Given the description of an element on the screen output the (x, y) to click on. 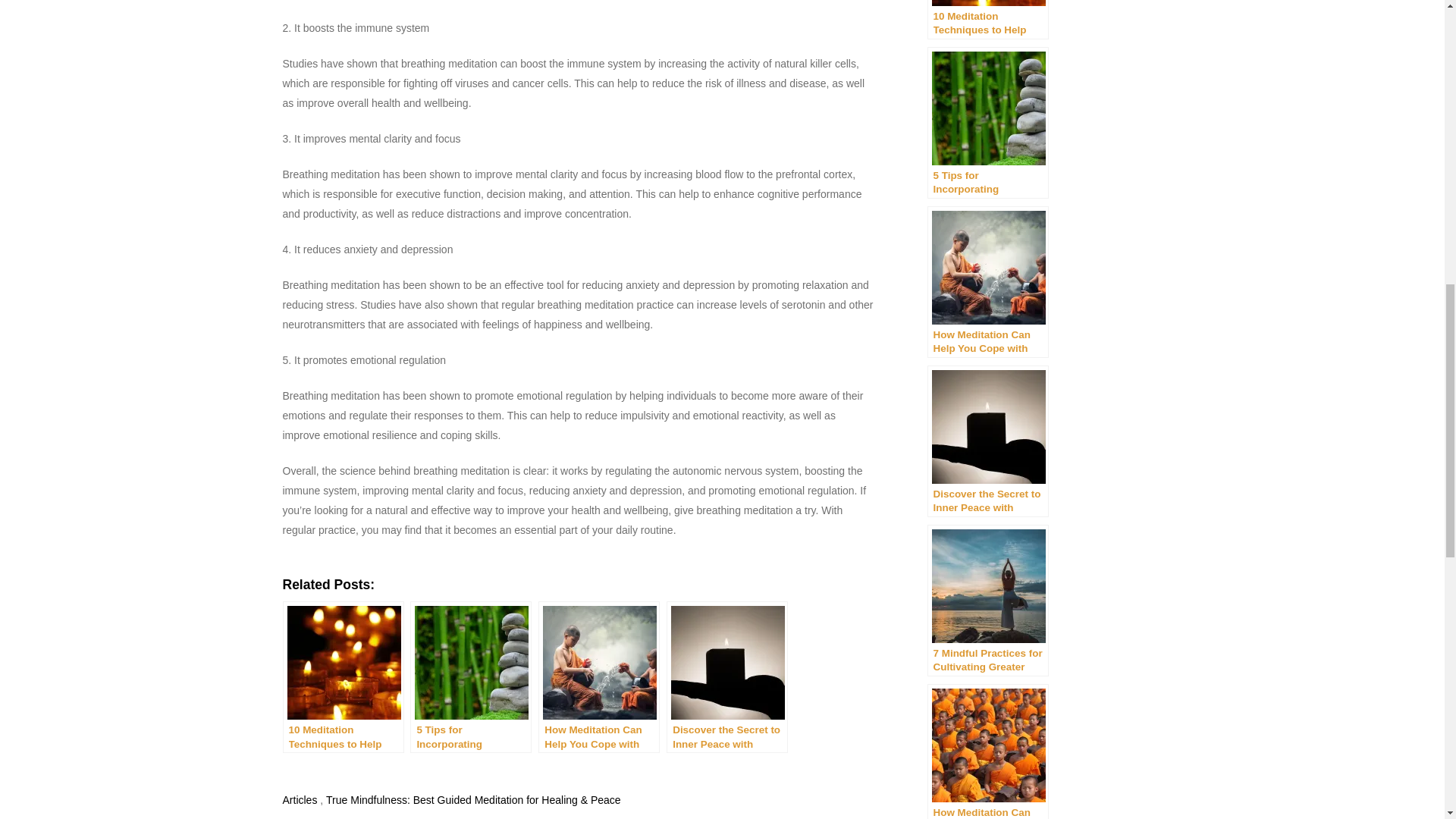
Articles (299, 799)
How Meditation Can Help You Manage Stress and Anxiety (987, 751)
How Meditation Can Help You Manage Stress and Anxiety (987, 751)
